Given the description of an element on the screen output the (x, y) to click on. 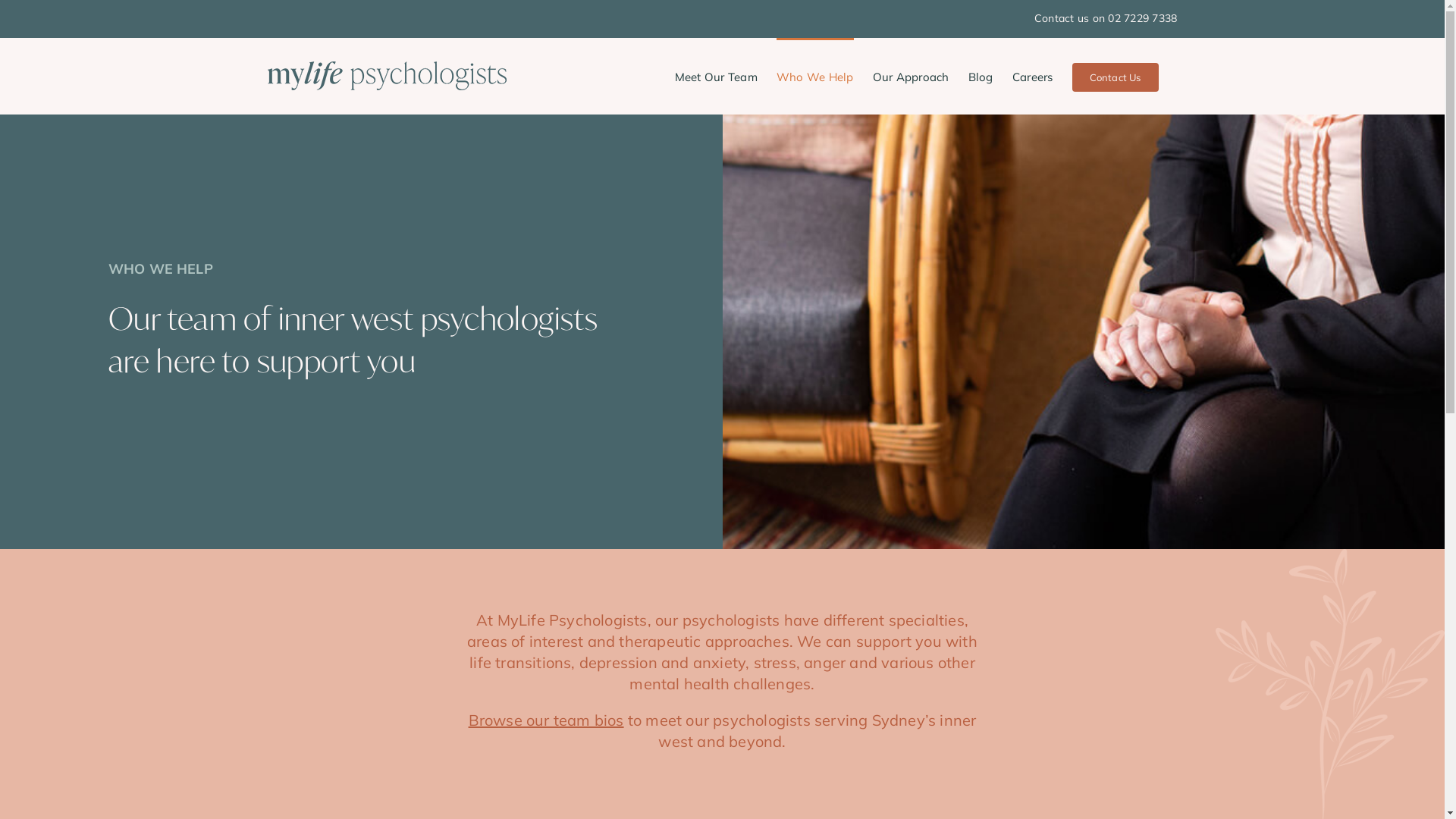
Who We Help Element type: text (814, 75)
Browse our team bios Element type: text (546, 719)
Blog Element type: text (980, 75)
Contact us on 02 7229 7338 Element type: text (1105, 18)
Contact Us Element type: text (1115, 75)
Meet Our Team Element type: text (715, 75)
Our Approach Element type: text (910, 75)
Careers Element type: text (1032, 75)
